Given the description of an element on the screen output the (x, y) to click on. 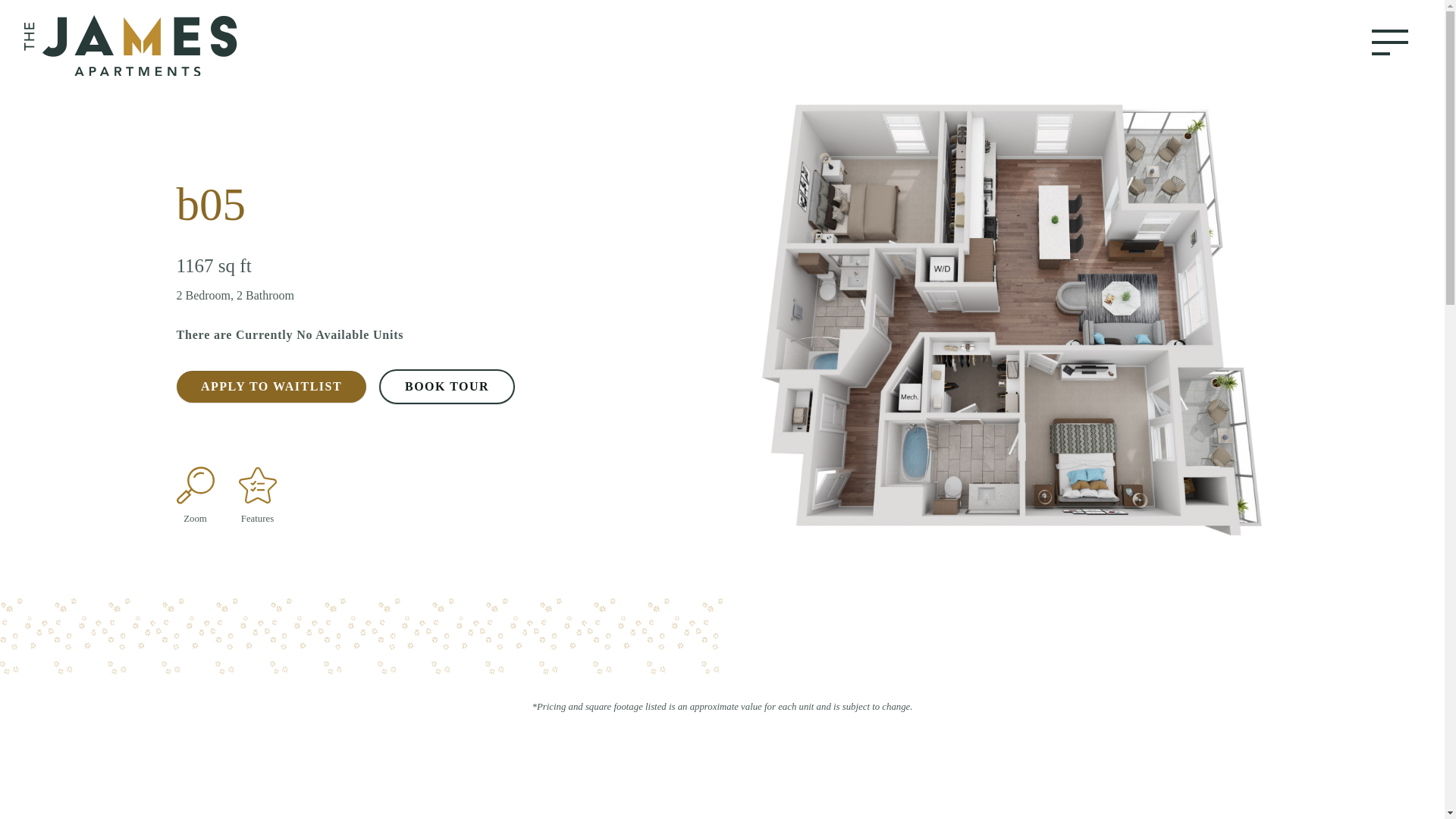
BOOK TOUR (446, 386)
Zoom (195, 485)
Features (257, 485)
APPLY TO WAITLIST (270, 386)
The James - Homepage (158, 45)
